Given the description of an element on the screen output the (x, y) to click on. 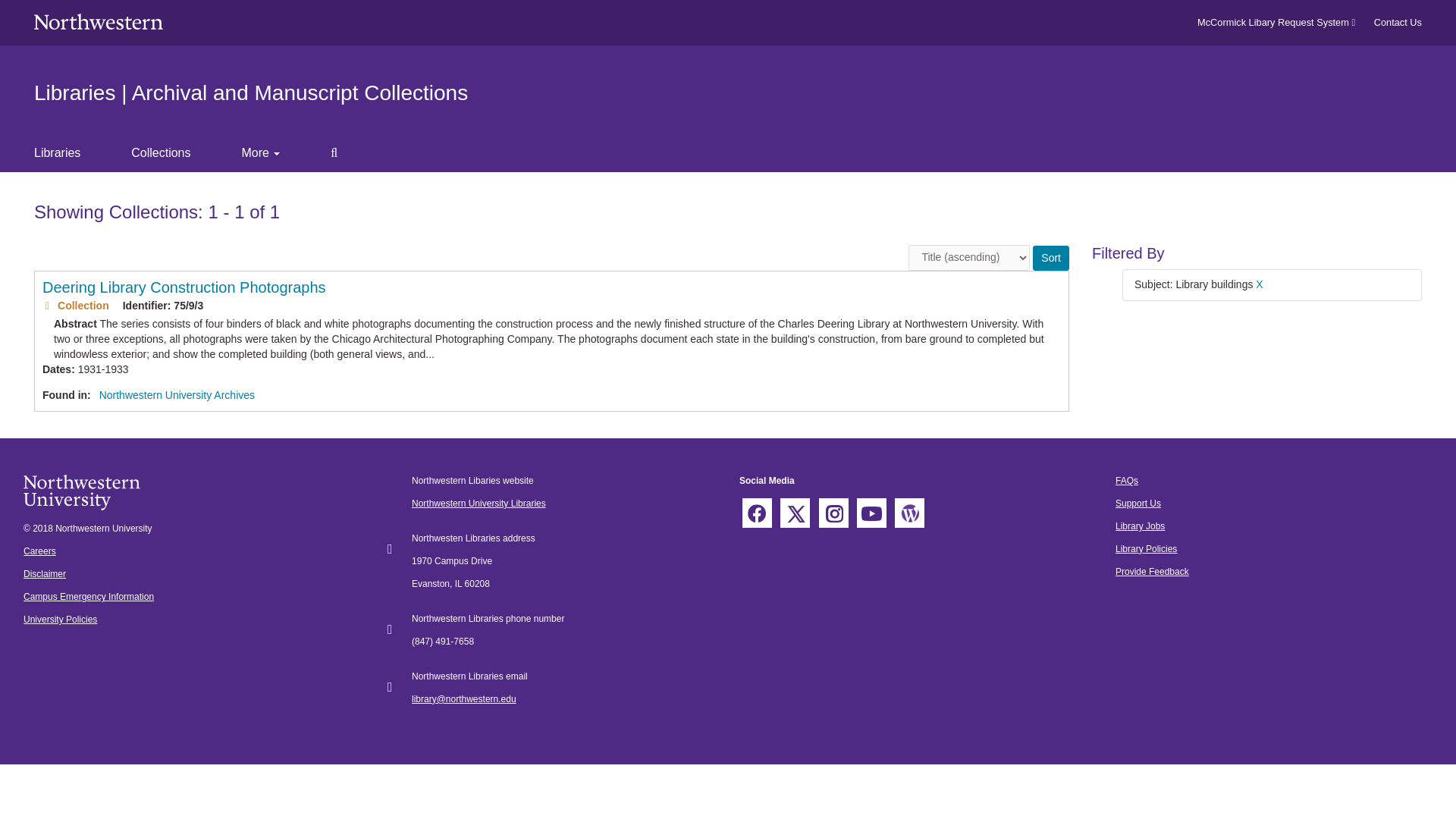
Northwestern University Archives (176, 395)
Disclaimer (44, 573)
translation missing: en.dates (56, 369)
Sort (1050, 258)
Deering Library Construction Photographs (184, 287)
Northwestern University Libraries (479, 502)
Careers (39, 551)
Collections (173, 152)
Search all Archival and Manuscript Collections (346, 152)
Search all Archival and Manuscript Collections (346, 152)
